Given the description of an element on the screen output the (x, y) to click on. 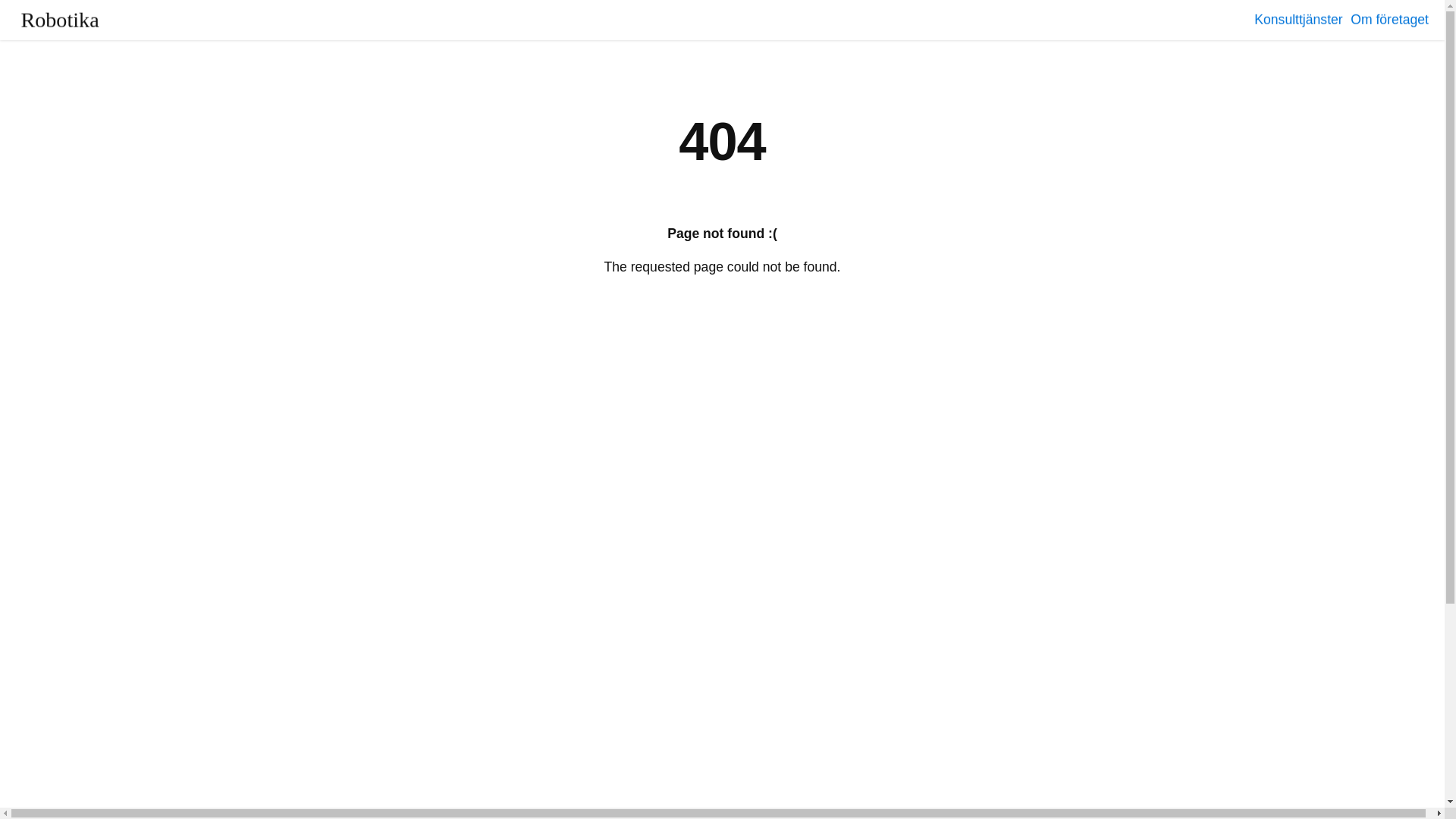
Robotika Element type: text (60, 20)
